Given the description of an element on the screen output the (x, y) to click on. 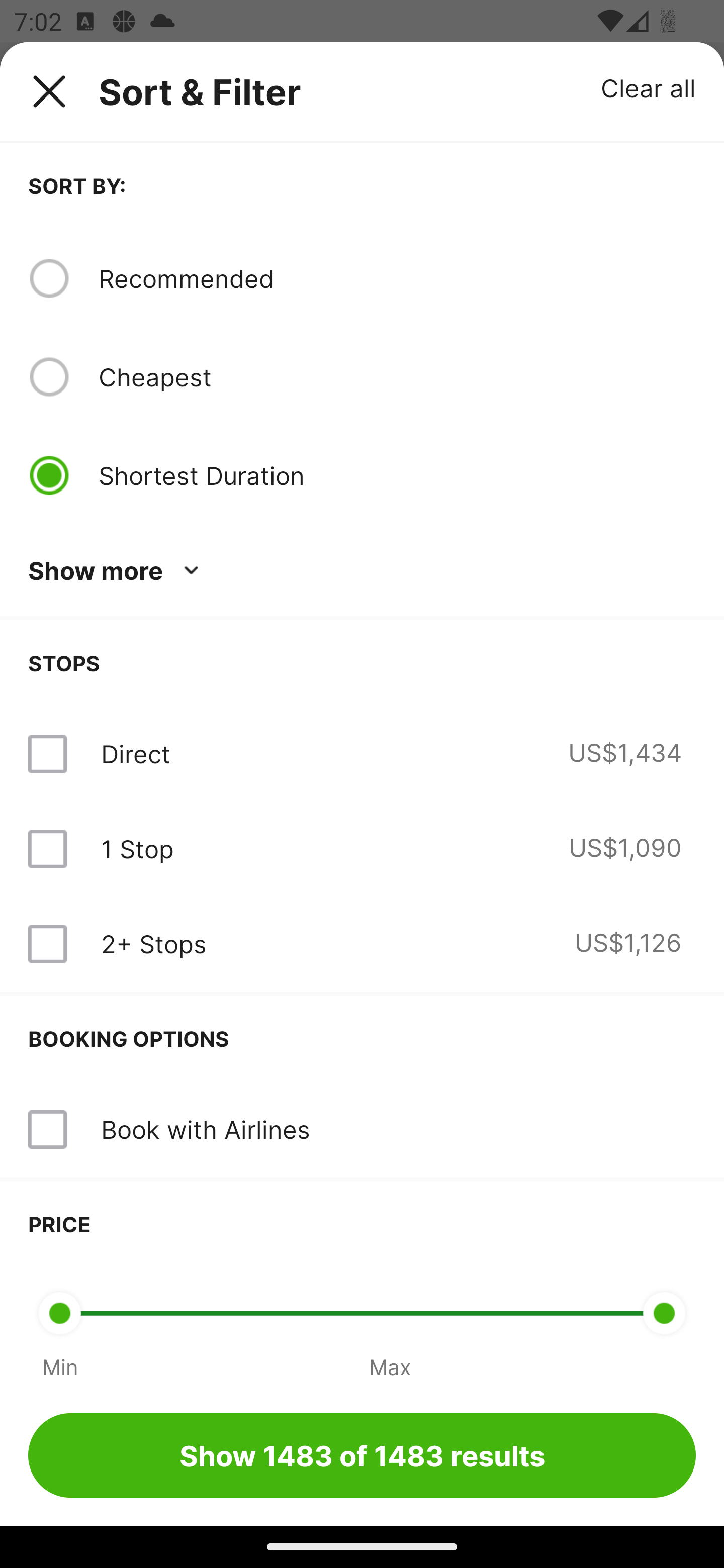
Clear all (648, 87)
Recommended  (396, 278)
Cheapest (396, 377)
Shortest Duration (396, 474)
Show more (116, 570)
Direct US$1,434 (362, 754)
Direct (135, 753)
1 Stop US$1,090 (362, 848)
1 Stop (136, 849)
2+ Stops US$1,126 (362, 943)
2+ Stops (153, 943)
Book with Airlines (362, 1129)
Book with Airlines (204, 1128)
Show 1483 of 1483 results (361, 1454)
